Given the description of an element on the screen output the (x, y) to click on. 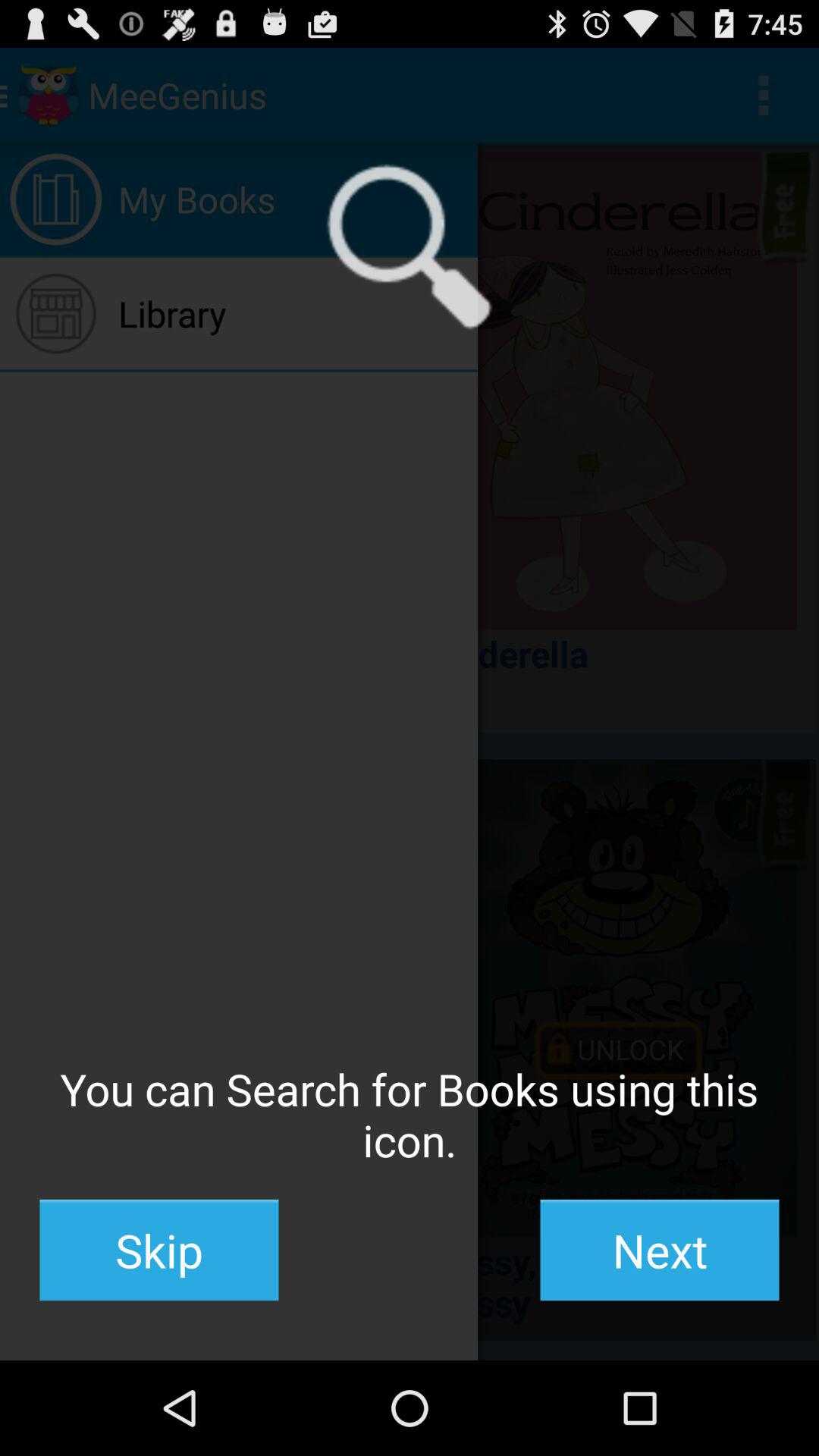
press item below the you can search item (659, 1249)
